Given the description of an element on the screen output the (x, y) to click on. 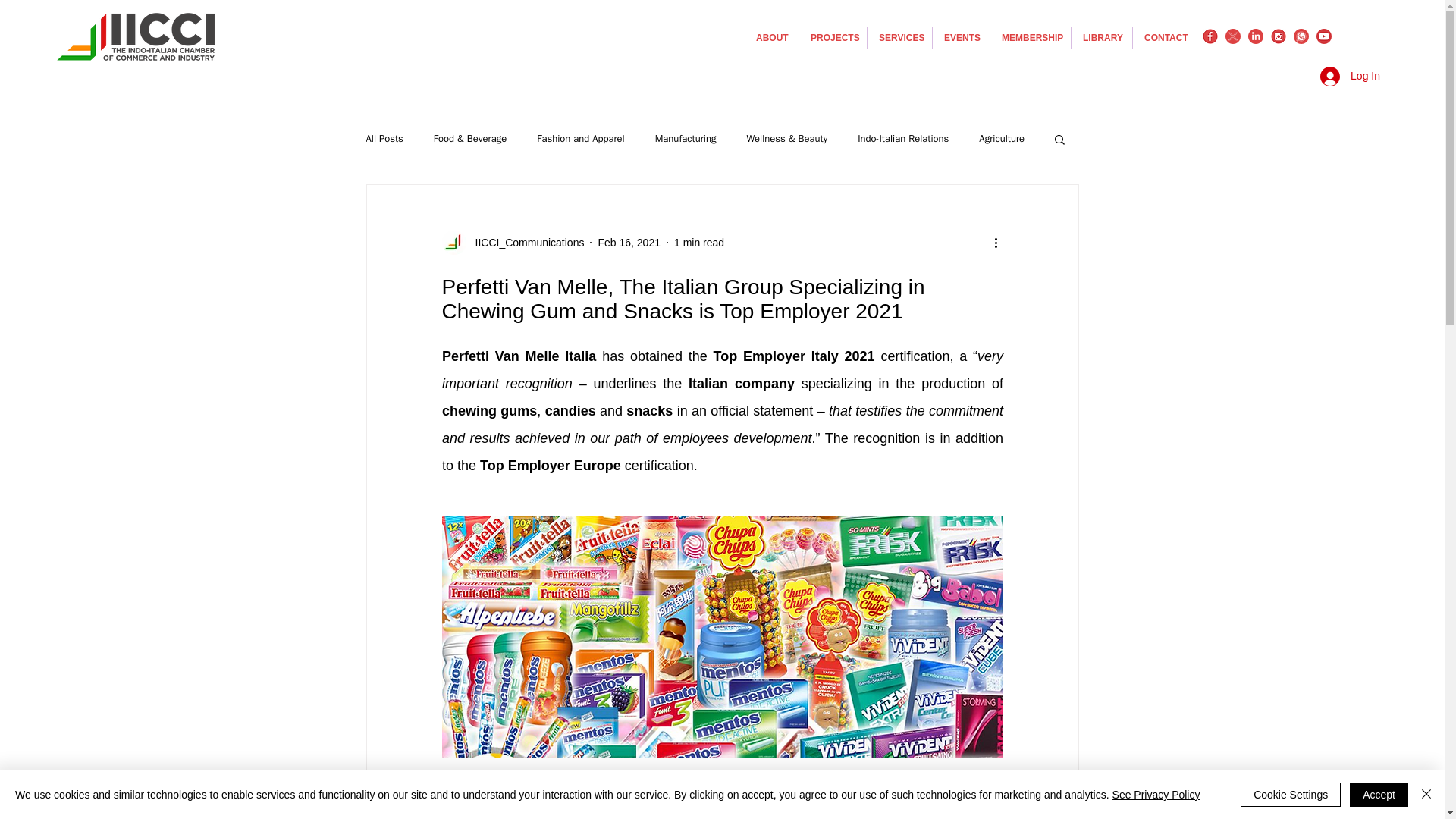
PROJECTS (832, 37)
1 min read (698, 242)
LIBRARY (1101, 37)
MEMBERSHIP (1030, 37)
SERVICES (899, 37)
CONTACT (1164, 37)
Feb 16, 2021 (628, 242)
EVENTS (961, 37)
ABOUT (770, 37)
